Given the description of an element on the screen output the (x, y) to click on. 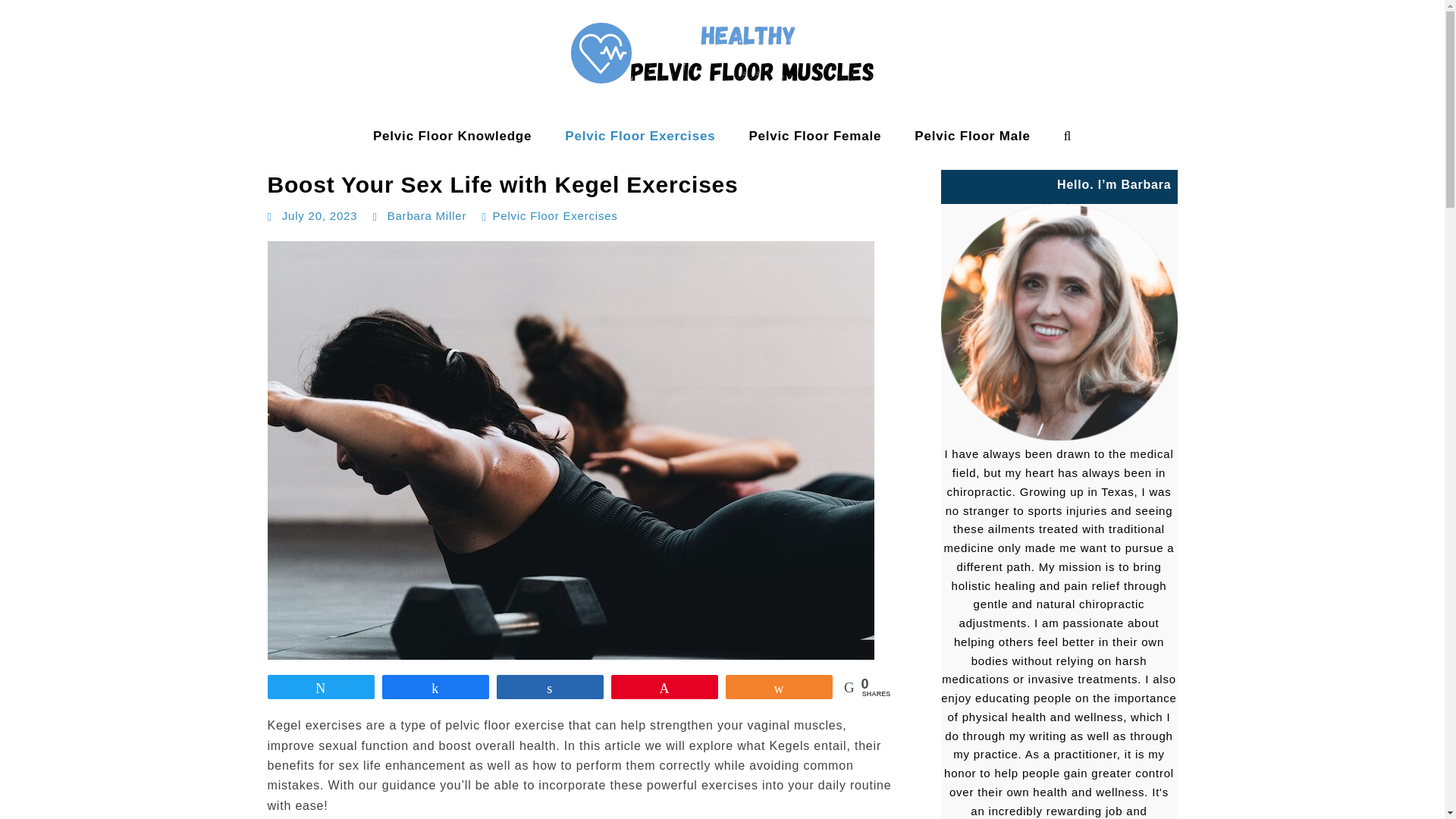
Pelvic Floor Female (815, 136)
Pelvic Floor Knowledge (452, 136)
Barbara Miller (427, 215)
Hello. I'm Barbara (1058, 321)
Pelvic Floor Exercises (640, 136)
Healthy Pelvic Floor Muscles (112, 151)
Pelvic Floor Male (972, 136)
Pelvic Floor Exercises (554, 215)
